Given the description of an element on the screen output the (x, y) to click on. 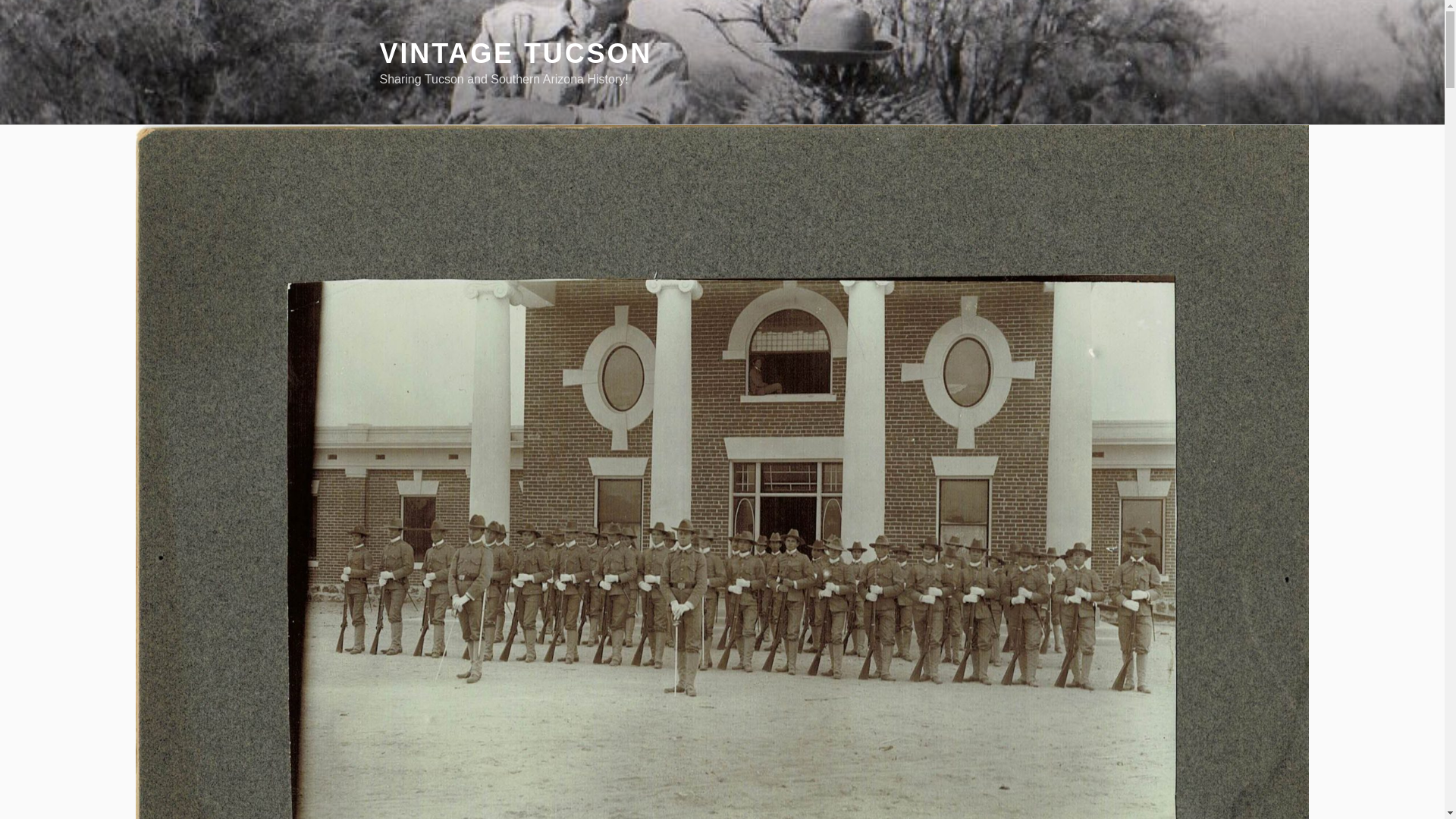
VINTAGE TUCSON (515, 52)
